Given the description of an element on the screen output the (x, y) to click on. 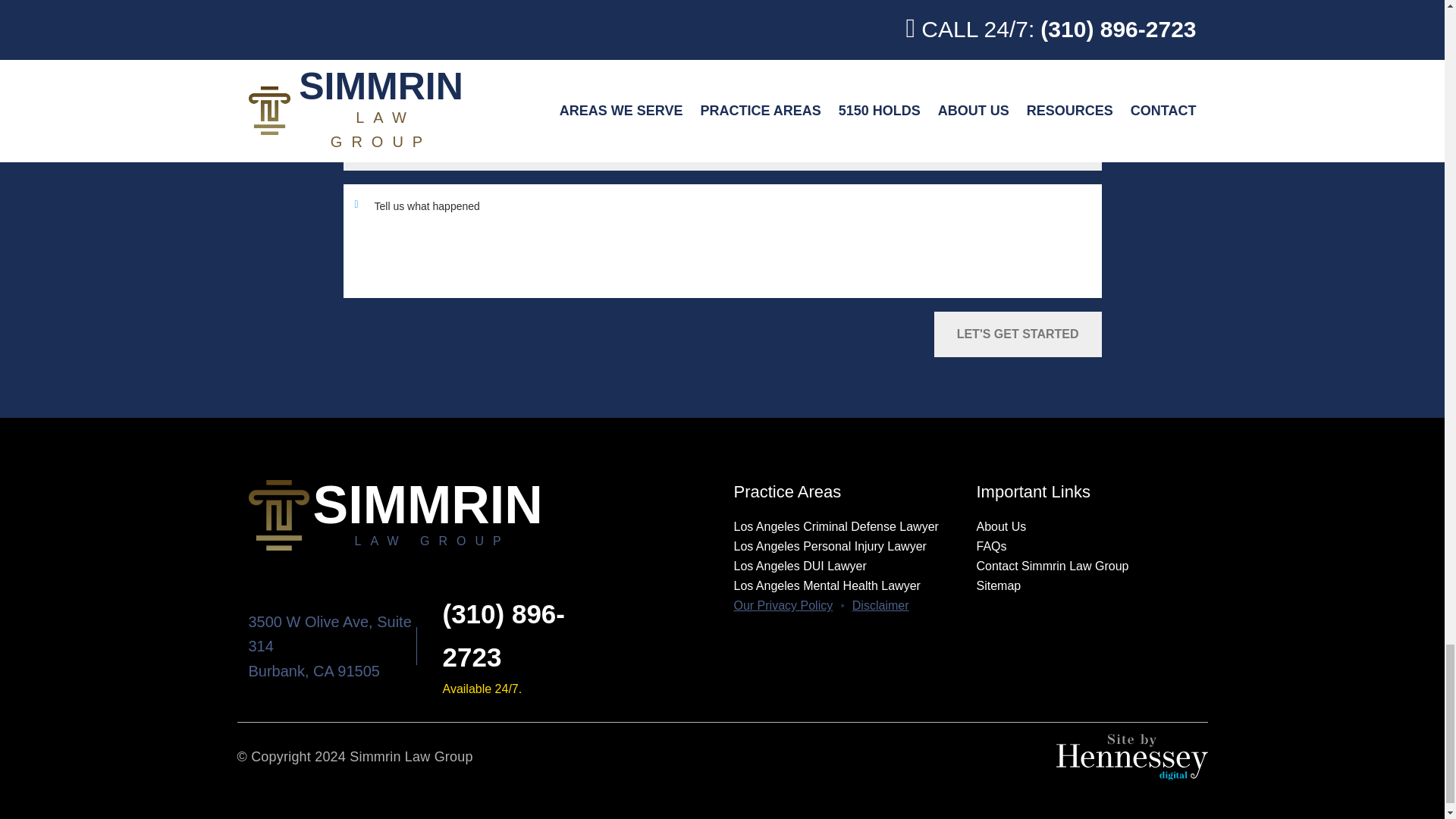
Simmrin Law (479, 514)
phone (503, 634)
disclaimer (879, 605)
Let's get started (1018, 334)
our privacy policy (782, 605)
